Given the description of an element on the screen output the (x, y) to click on. 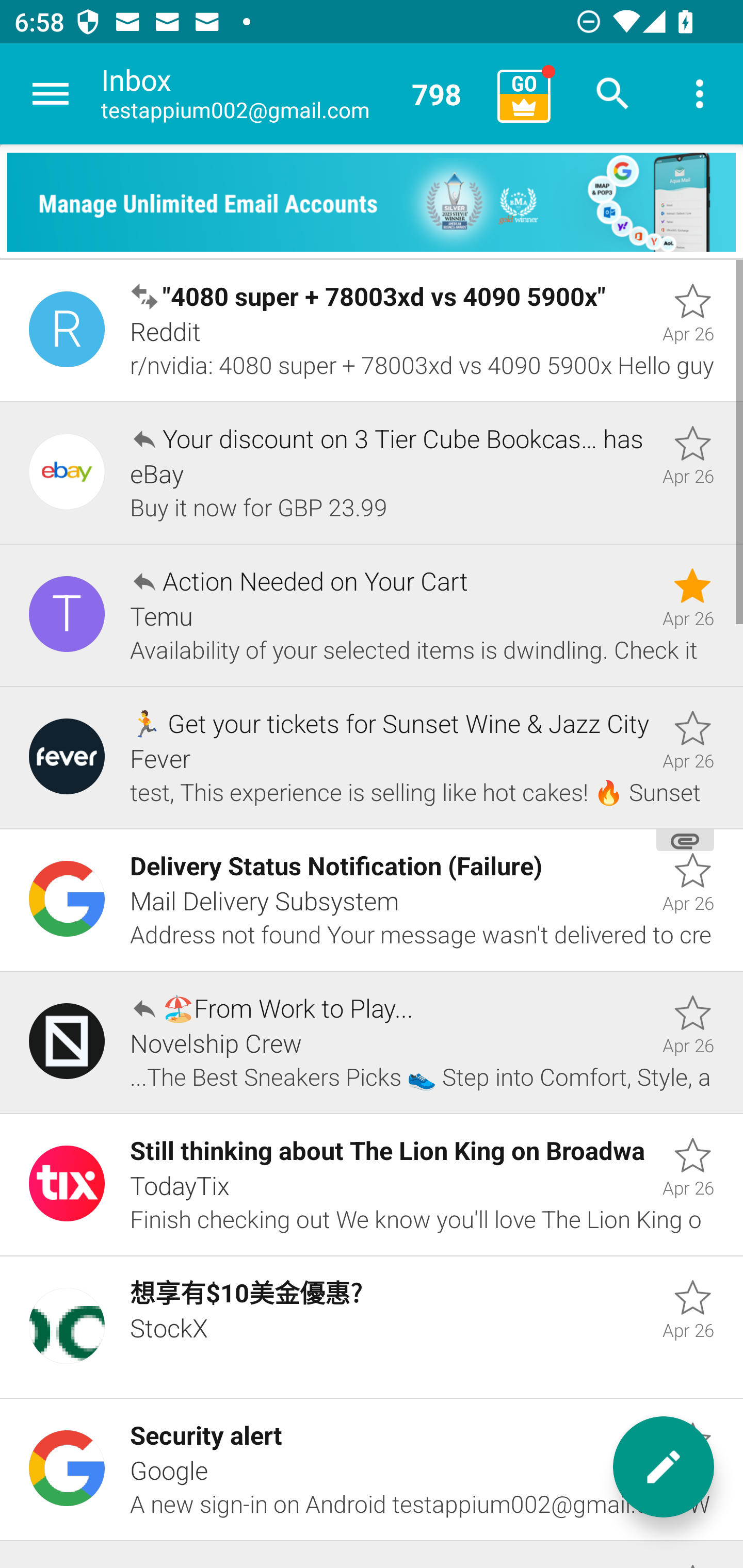
Navigate up (50, 93)
Inbox testappium002@gmail.com 798 (291, 93)
Search (612, 93)
More options (699, 93)
Unread, 想享有$10美金優惠?, StockX, Apr 26 (371, 1326)
New message (663, 1466)
